Given the description of an element on the screen output the (x, y) to click on. 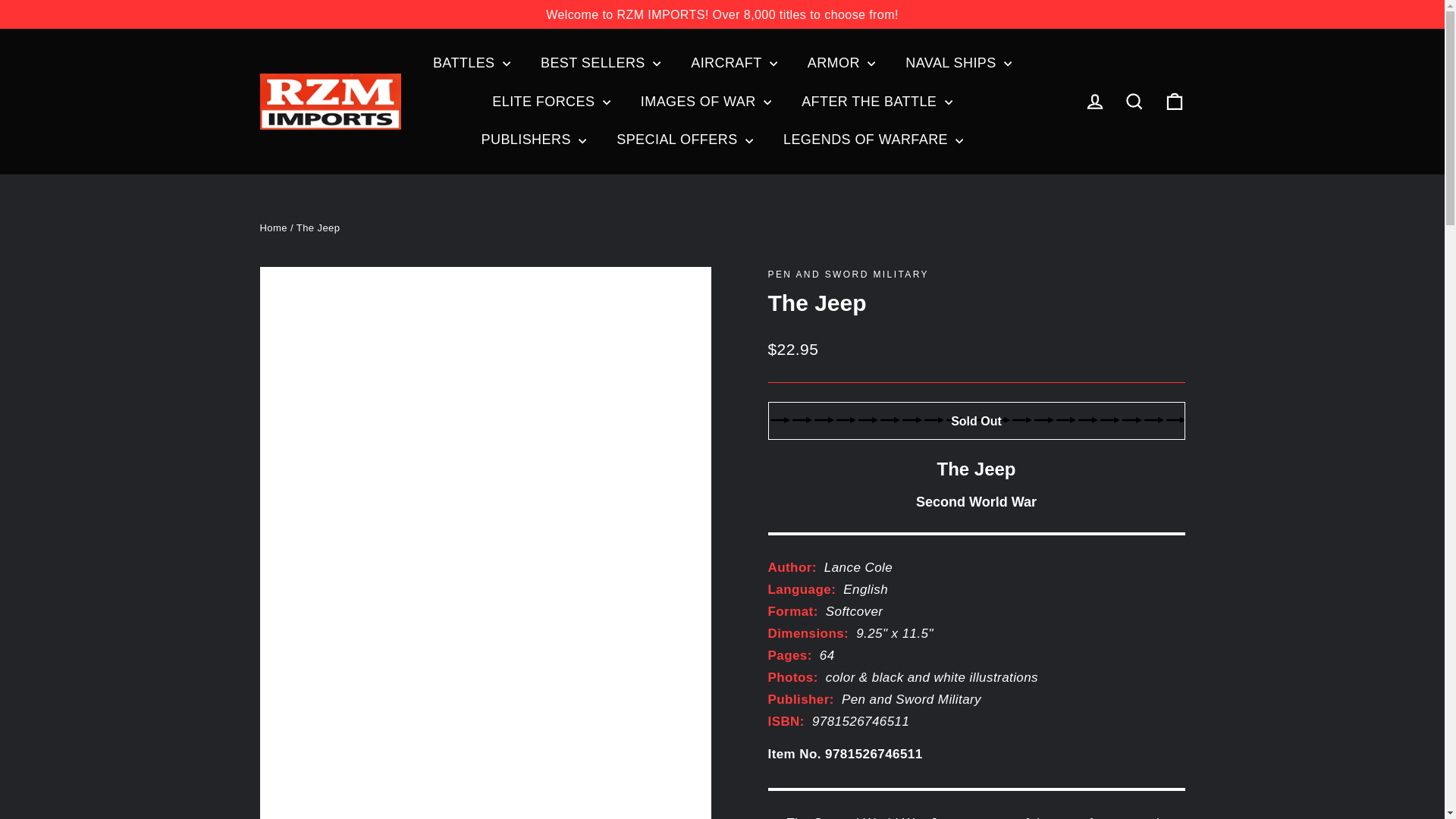
Back to the frontpage (272, 227)
